Given the description of an element on the screen output the (x, y) to click on. 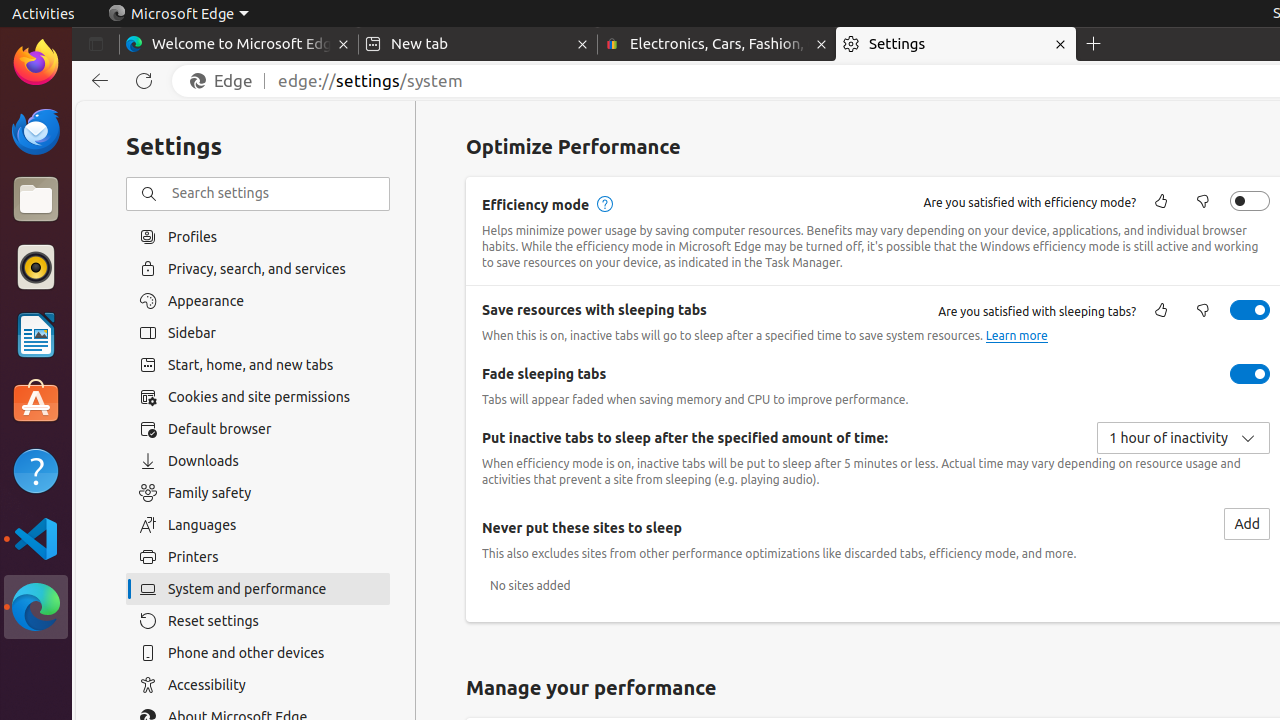
Languages Element type: tree-item (258, 525)
New tab Element type: page-tab (478, 44)
Downloads Element type: tree-item (258, 461)
Efficiency mode Element type: check-box (1250, 201)
Microsoft Edge Element type: push-button (36, 607)
